Given the description of an element on the screen output the (x, y) to click on. 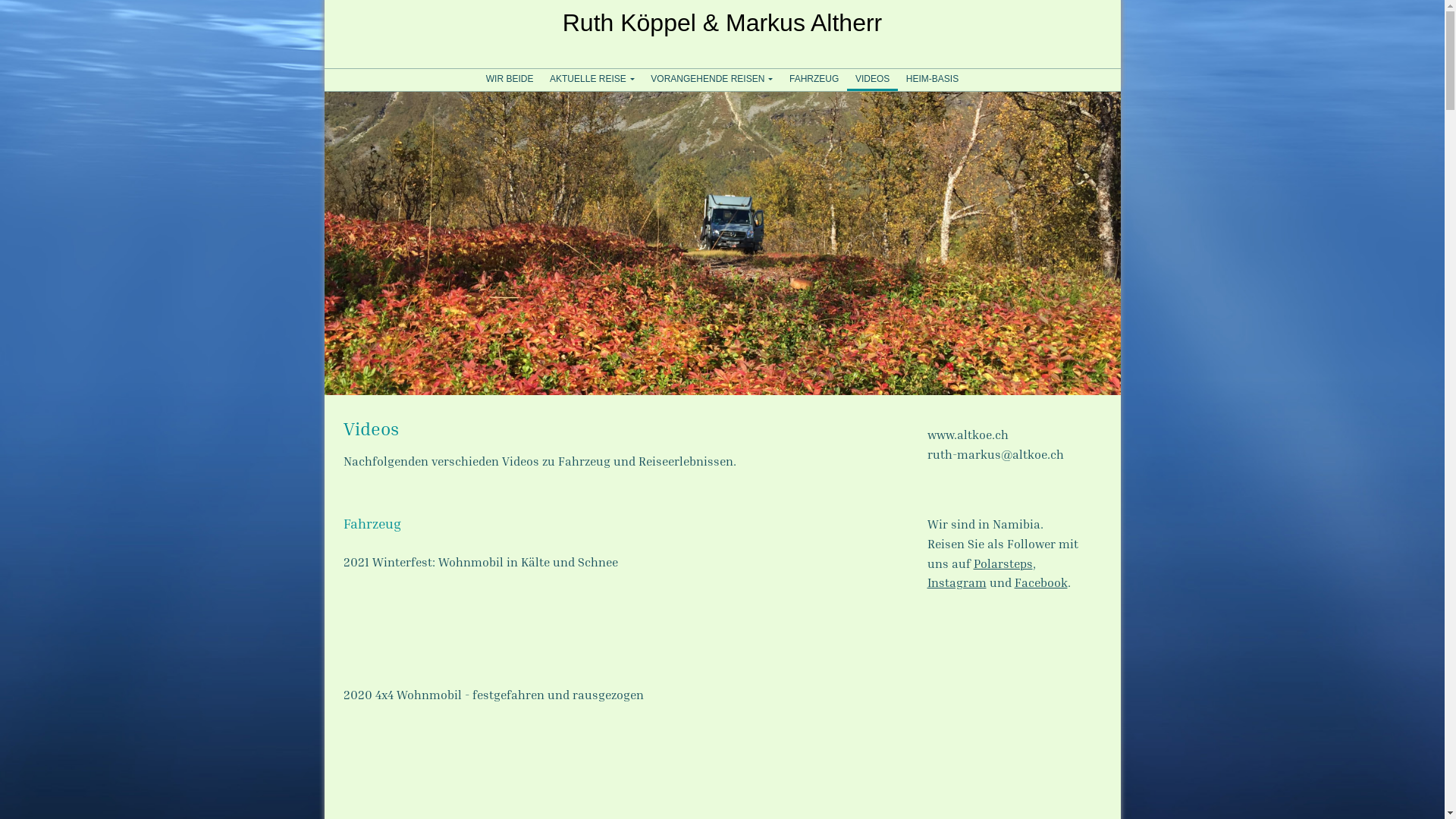
VIDEOS Element type: text (872, 78)
FAHRZEUG Element type: text (814, 78)
Facebook Element type: text (1040, 581)
AKTUELLE REISE Element type: text (591, 78)
Polarsteps Element type: text (1002, 563)
WIR BEIDE Element type: text (509, 78)
HEIM-BASIS Element type: text (931, 78)
Instagram Element type: text (955, 581)
VORANGEHENDE REISEN Element type: text (712, 78)
